Given the description of an element on the screen output the (x, y) to click on. 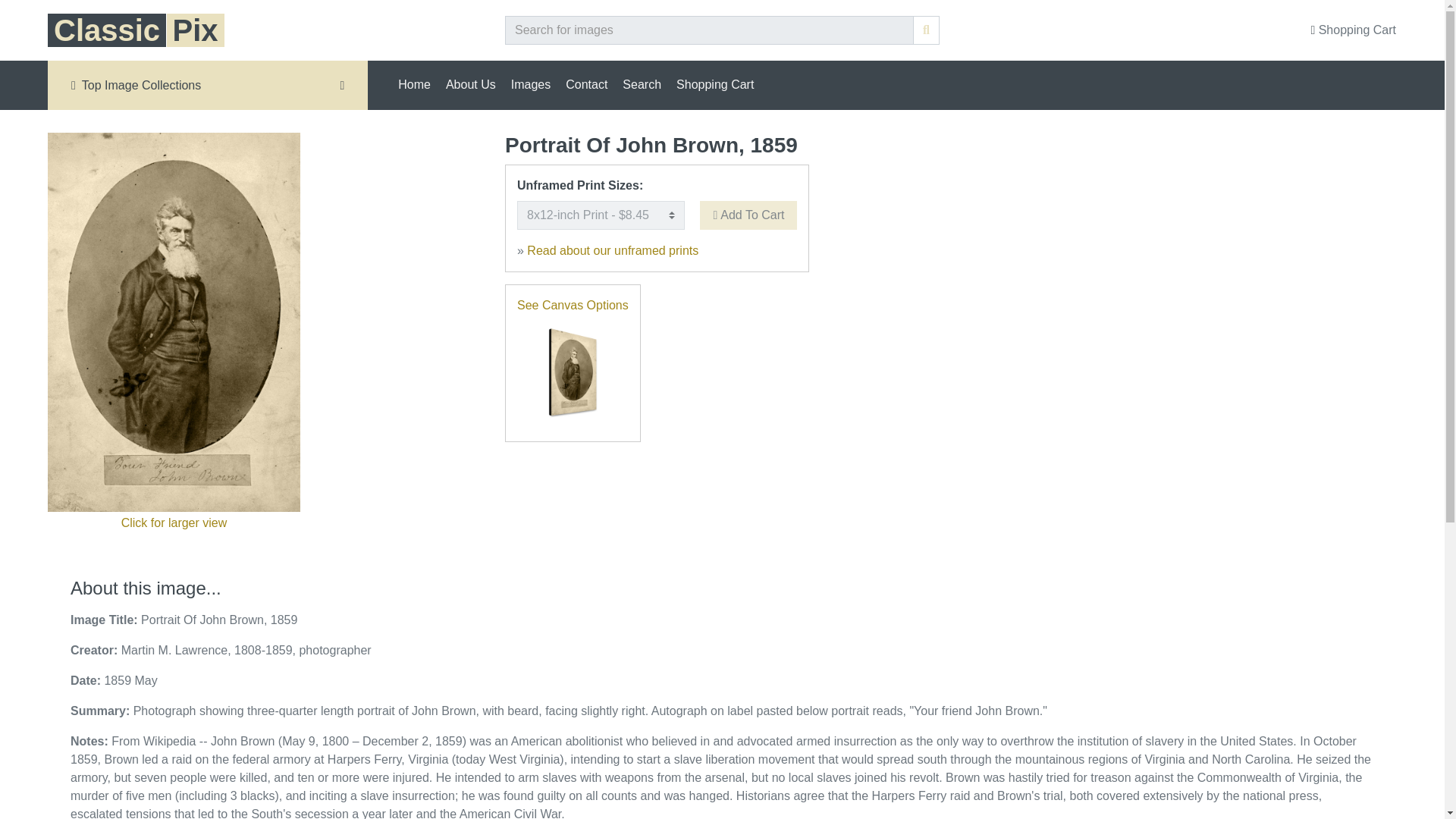
Click for larger view (173, 521)
See Canvas Options (572, 305)
Add To Cart (748, 215)
Top Image Collections (208, 84)
Classic Pix (136, 36)
About Us (470, 84)
Shopping Cart (1352, 30)
Search (641, 84)
Shopping Cart (714, 84)
Home (414, 84)
Read about our unframed prints (612, 250)
Images (530, 84)
Contact (585, 84)
